Given the description of an element on the screen output the (x, y) to click on. 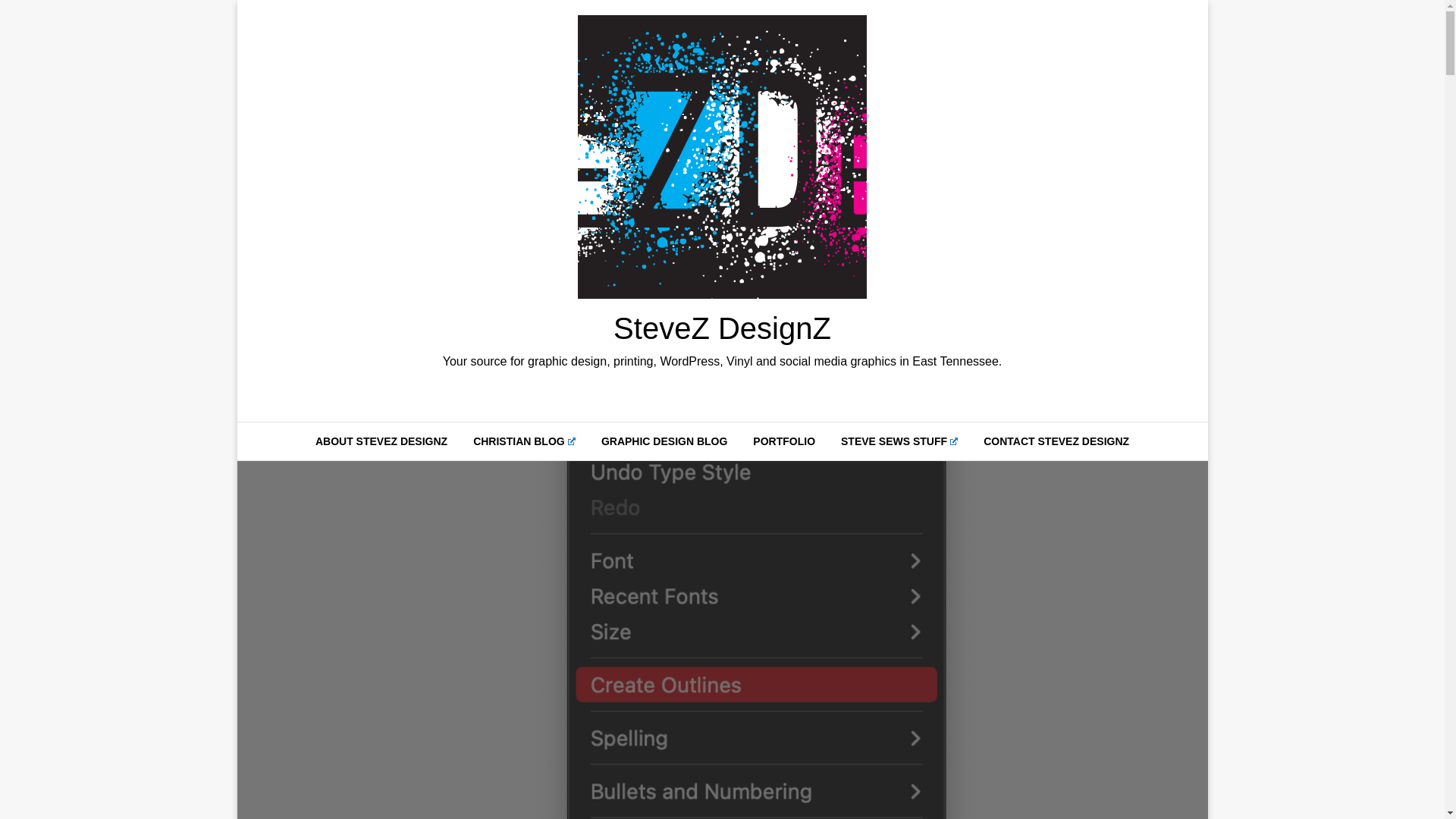
CONTACT STEVEZ DESIGNZ (1056, 441)
PORTFOLIO (783, 441)
SteveZ DesignZ (721, 328)
STEVE SEWS STUFF (899, 441)
ABOUT STEVEZ DESIGNZ (381, 441)
GRAPHIC DESIGN BLOG (663, 441)
CHRISTIAN BLOG (524, 441)
